Given the description of an element on the screen output the (x, y) to click on. 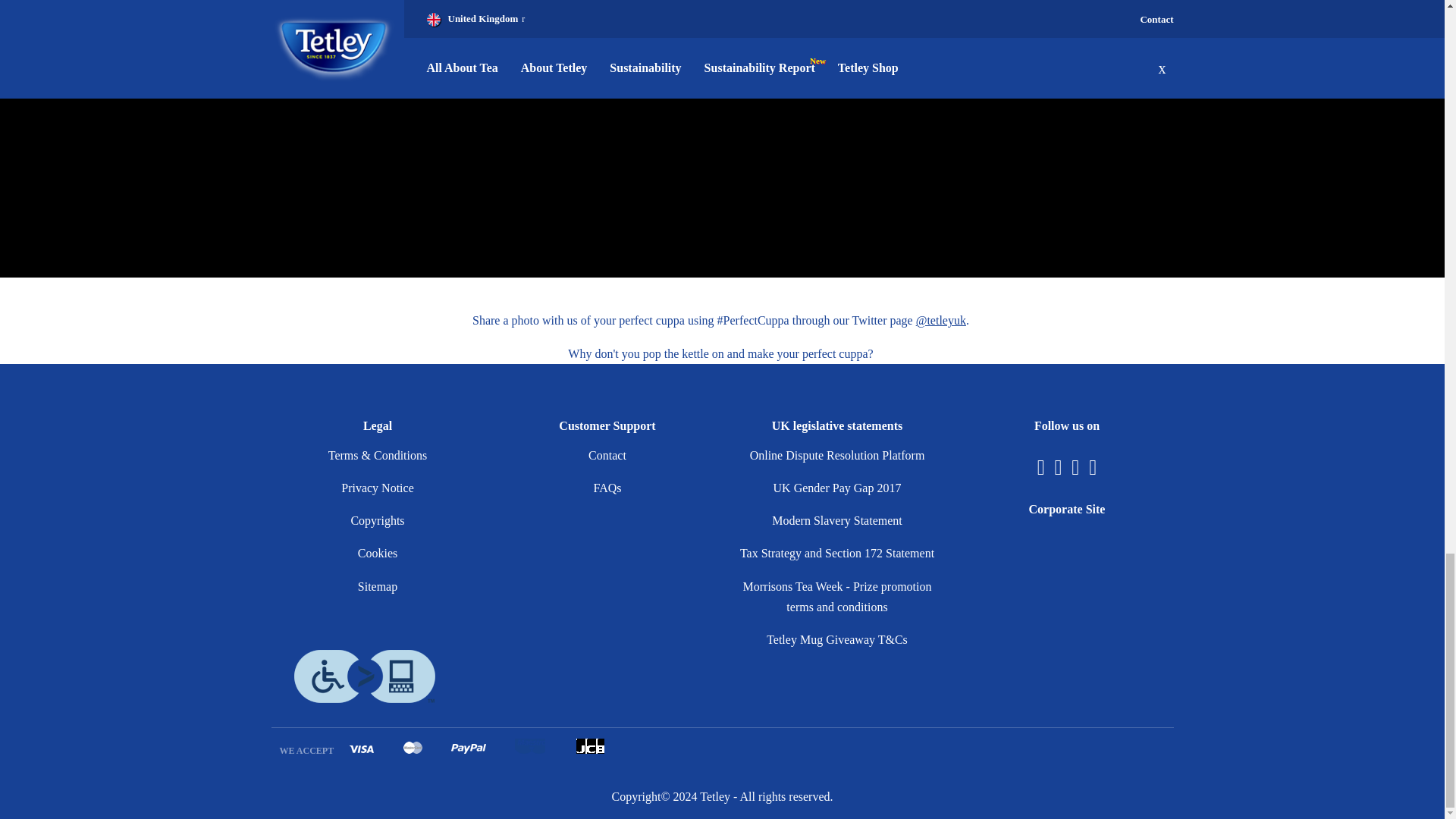
Accessibility (363, 676)
Sitemap (377, 585)
Modern Slavery Statement (836, 520)
